Given the description of an element on the screen output the (x, y) to click on. 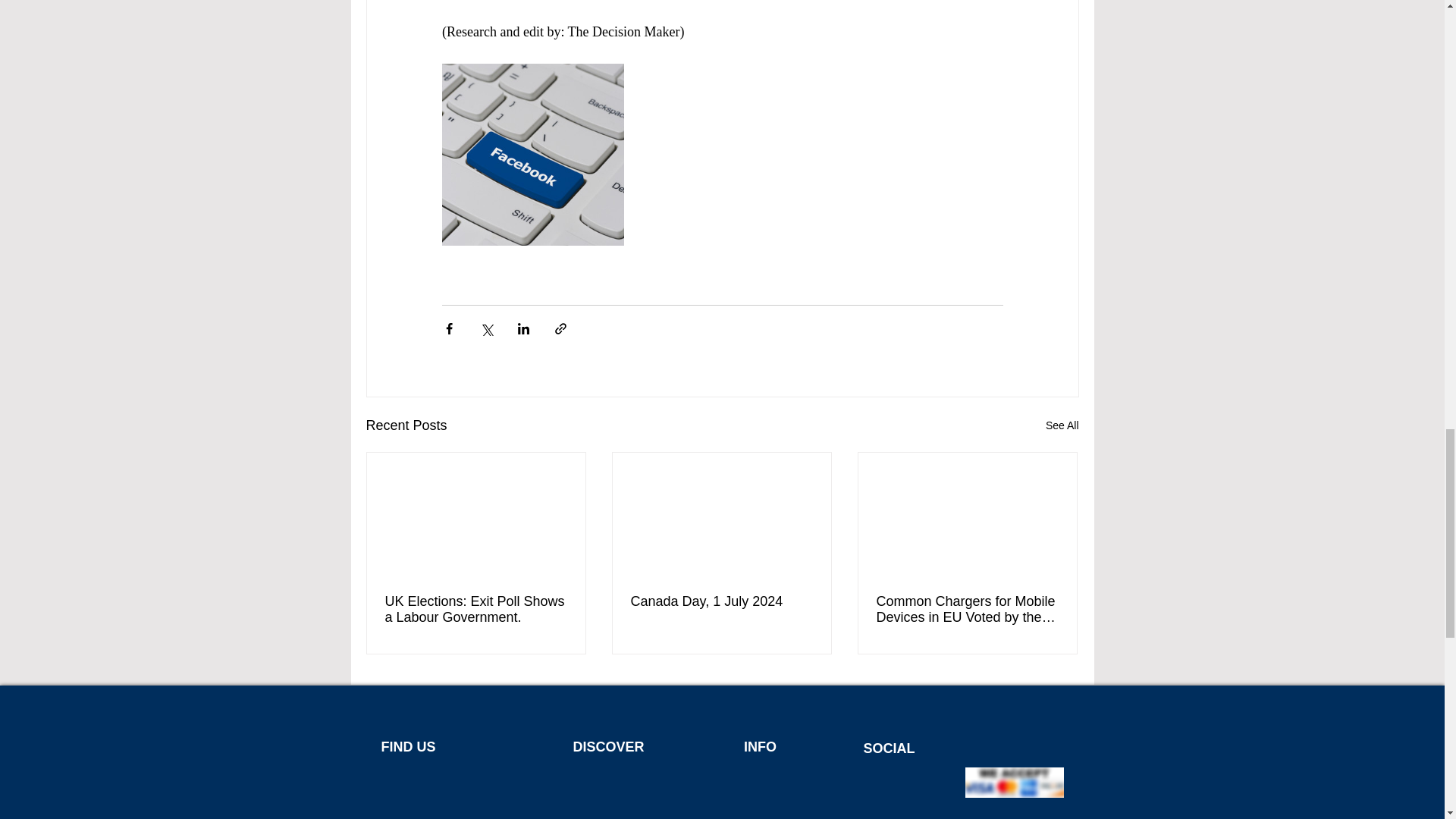
See All (1061, 425)
UK Elections: Exit Poll Shows a Labour Government. (476, 609)
Canada Day, 1 July 2024 (721, 601)
FIND US (407, 746)
